Given the description of an element on the screen output the (x, y) to click on. 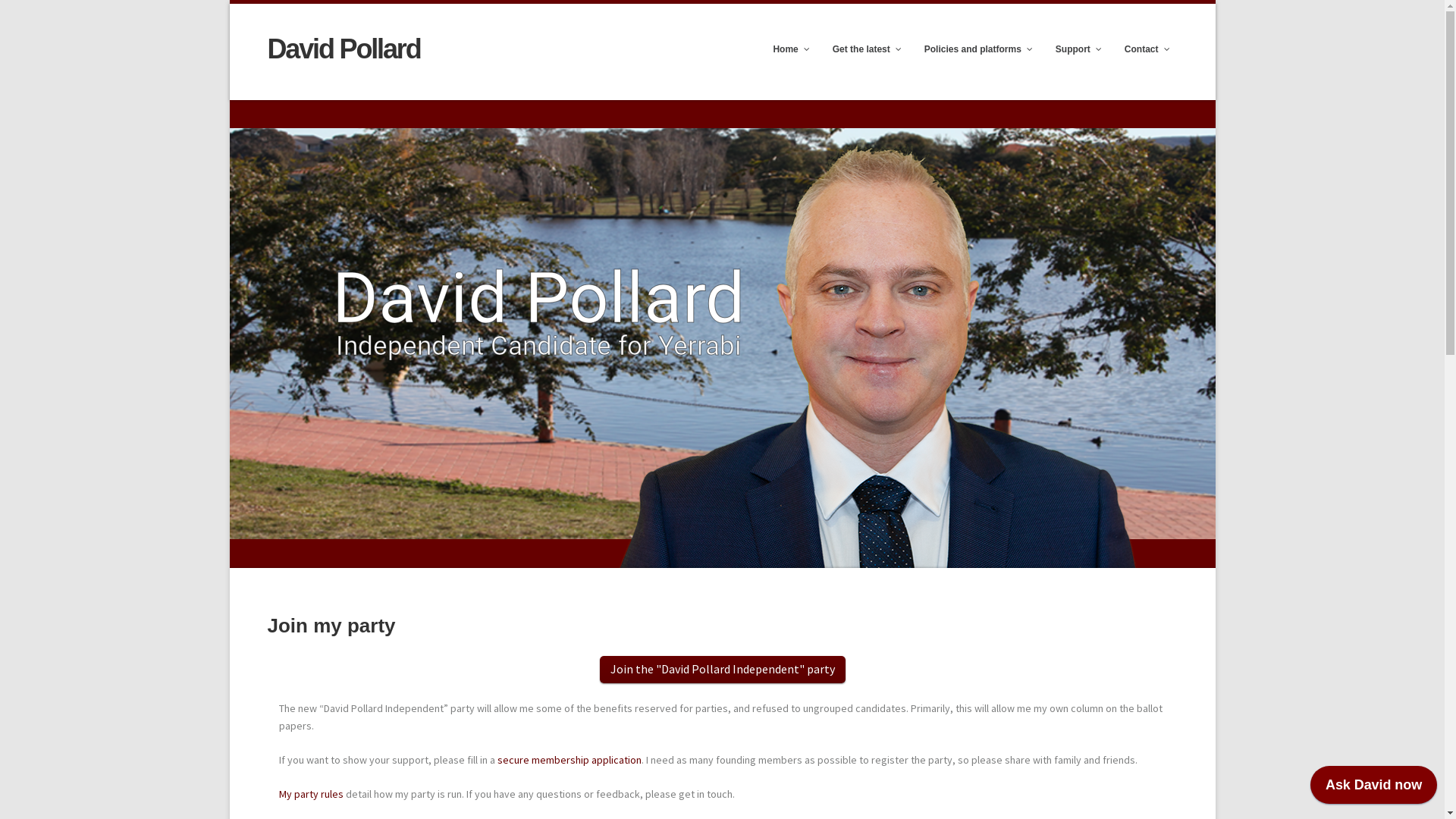
My party rules Element type: text (311, 793)
Policies and platforms Element type: text (974, 49)
Get the latest Element type: text (863, 49)
secure membership application Element type: text (569, 759)
Contact Element type: text (1143, 49)
Support Element type: text (1074, 49)
Home Element type: text (786, 49)
Join the "David Pollard Independent" party Element type: text (721, 668)
David Pollard Element type: text (343, 49)
